Given the description of an element on the screen output the (x, y) to click on. 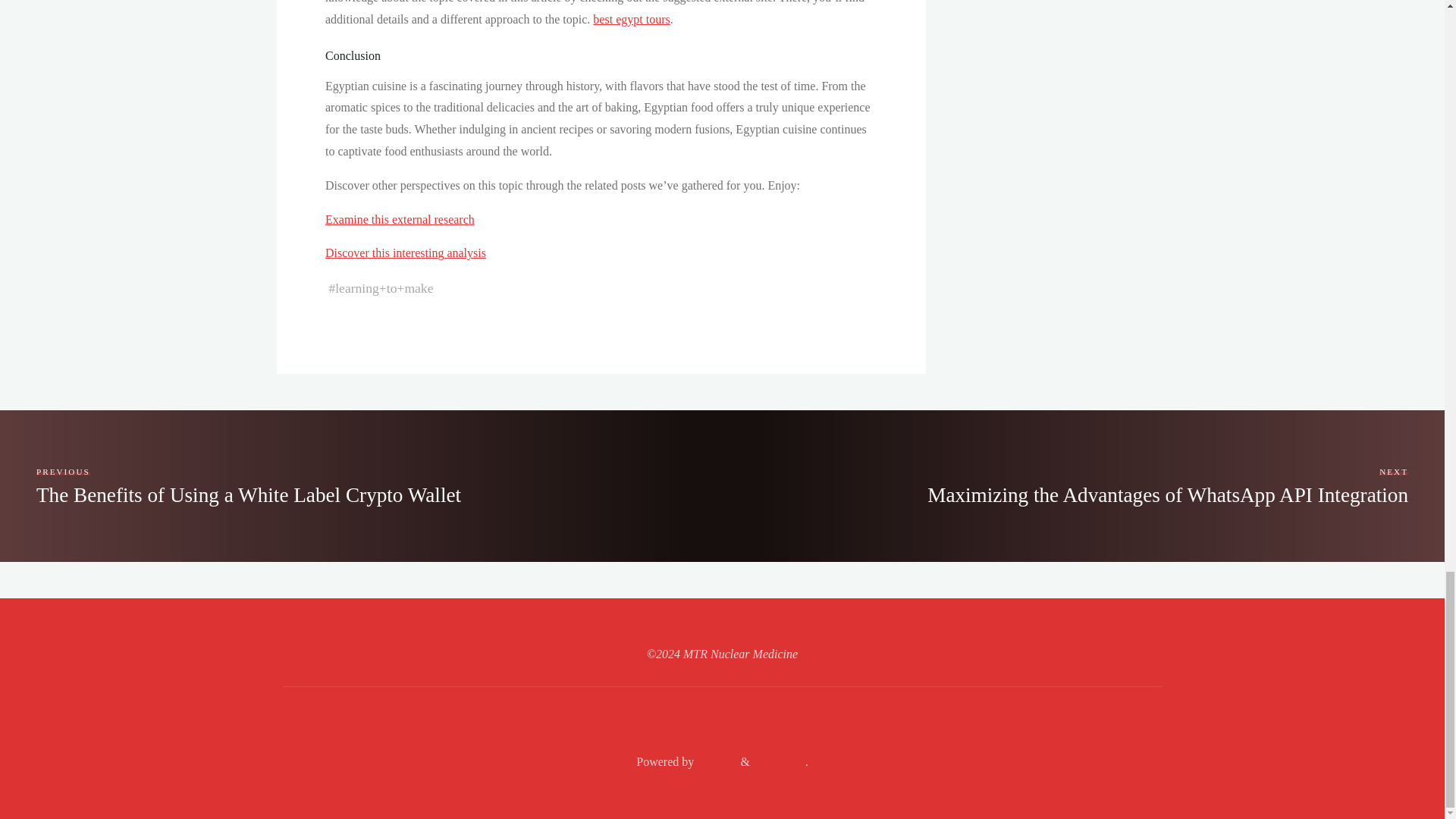
best egypt tours (630, 19)
Bravada WordPress Theme by Cryout Creations (715, 761)
Examine this external research (399, 219)
Semantic Personal Publishing Platform (248, 485)
Discover this interesting analysis (778, 761)
